Given the description of an element on the screen output the (x, y) to click on. 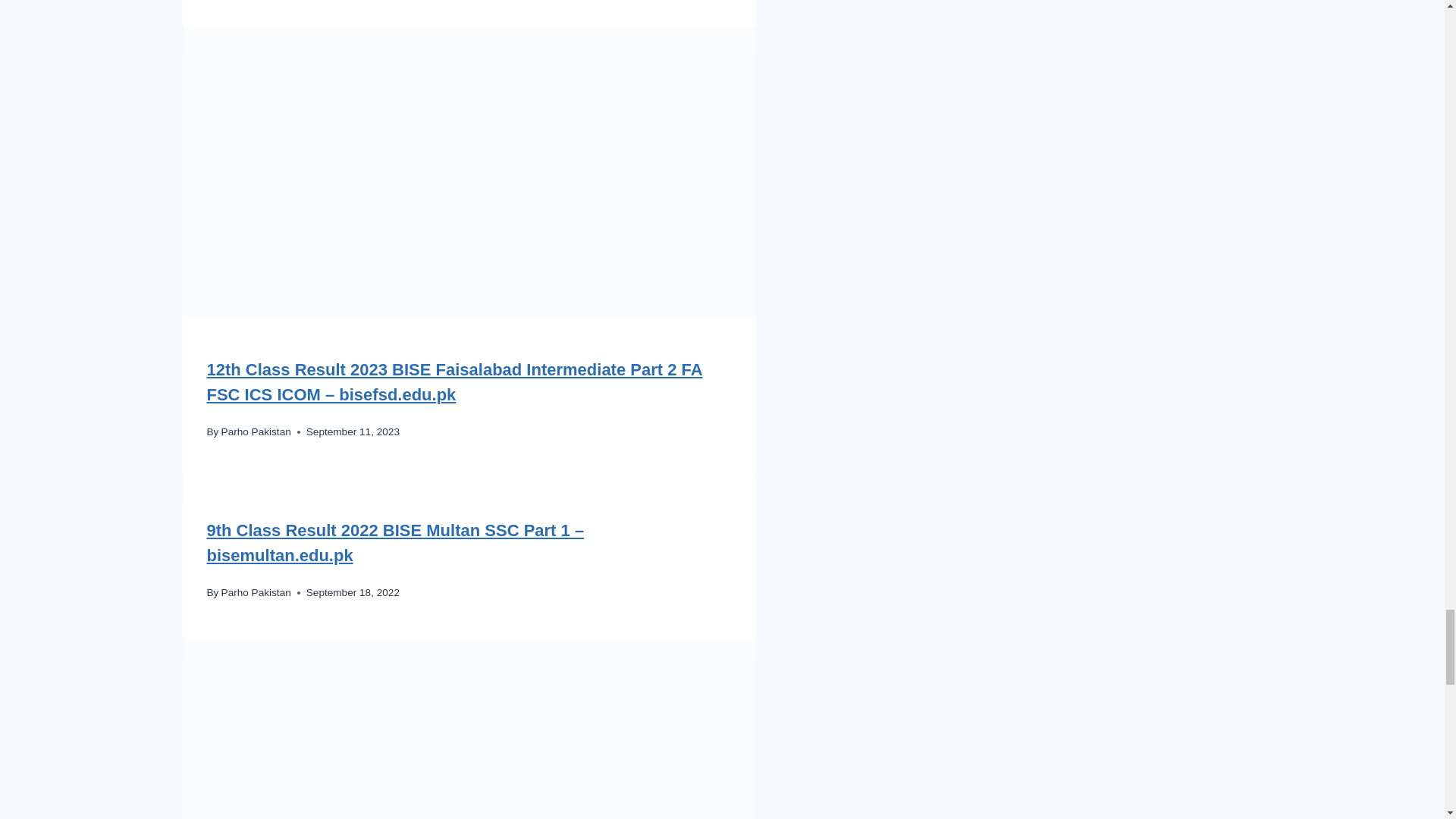
Parho Pakistan (256, 592)
Parho Pakistan (256, 431)
